Given the description of an element on the screen output the (x, y) to click on. 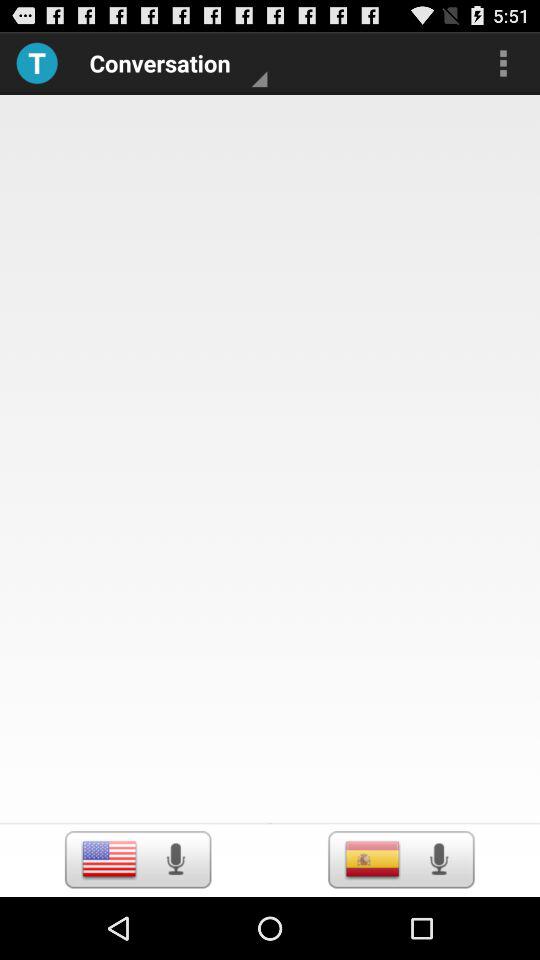
toggle microphone (438, 859)
